Given the description of an element on the screen output the (x, y) to click on. 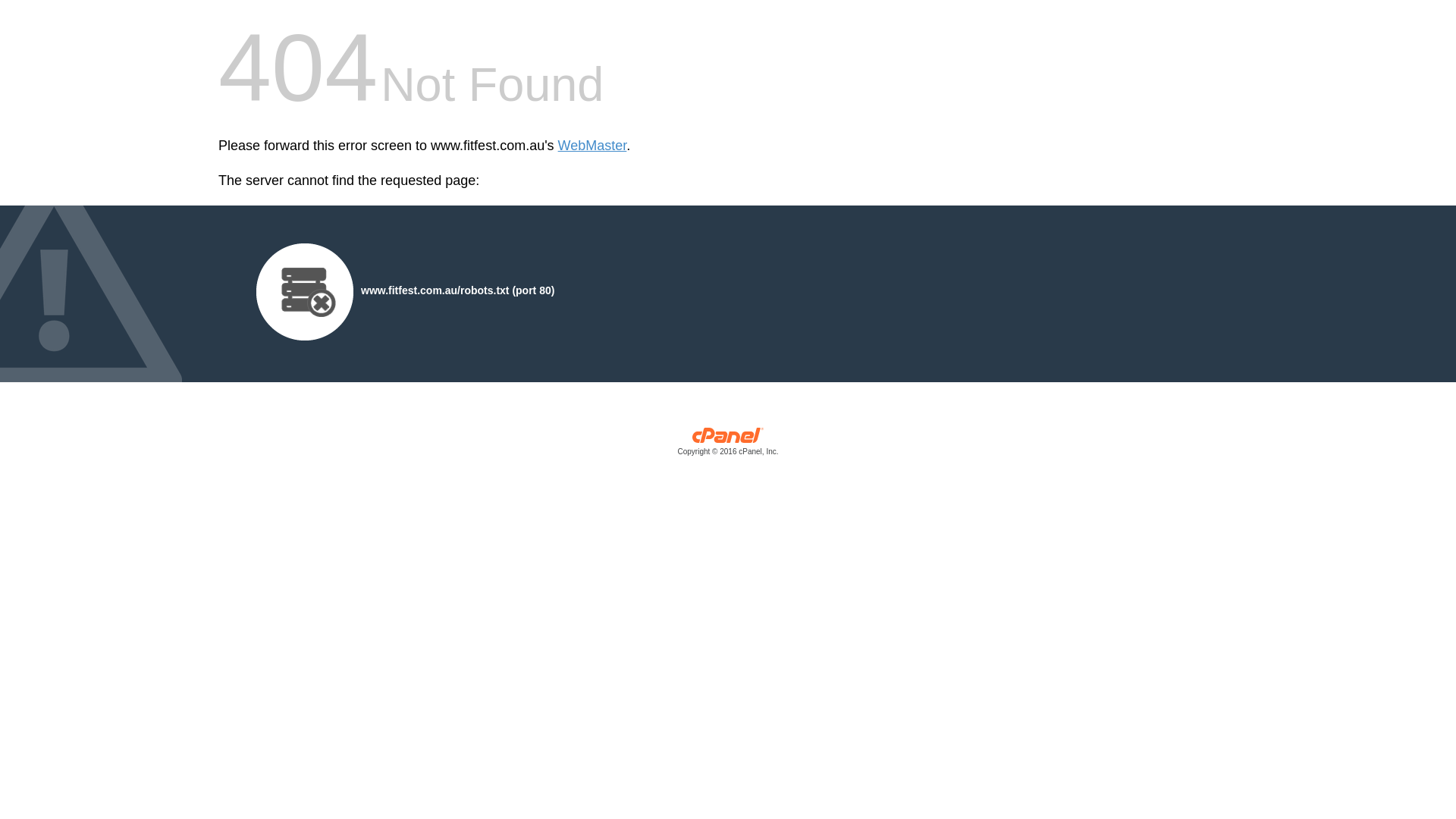
WebMaster Element type: text (592, 145)
